Given the description of an element on the screen output the (x, y) to click on. 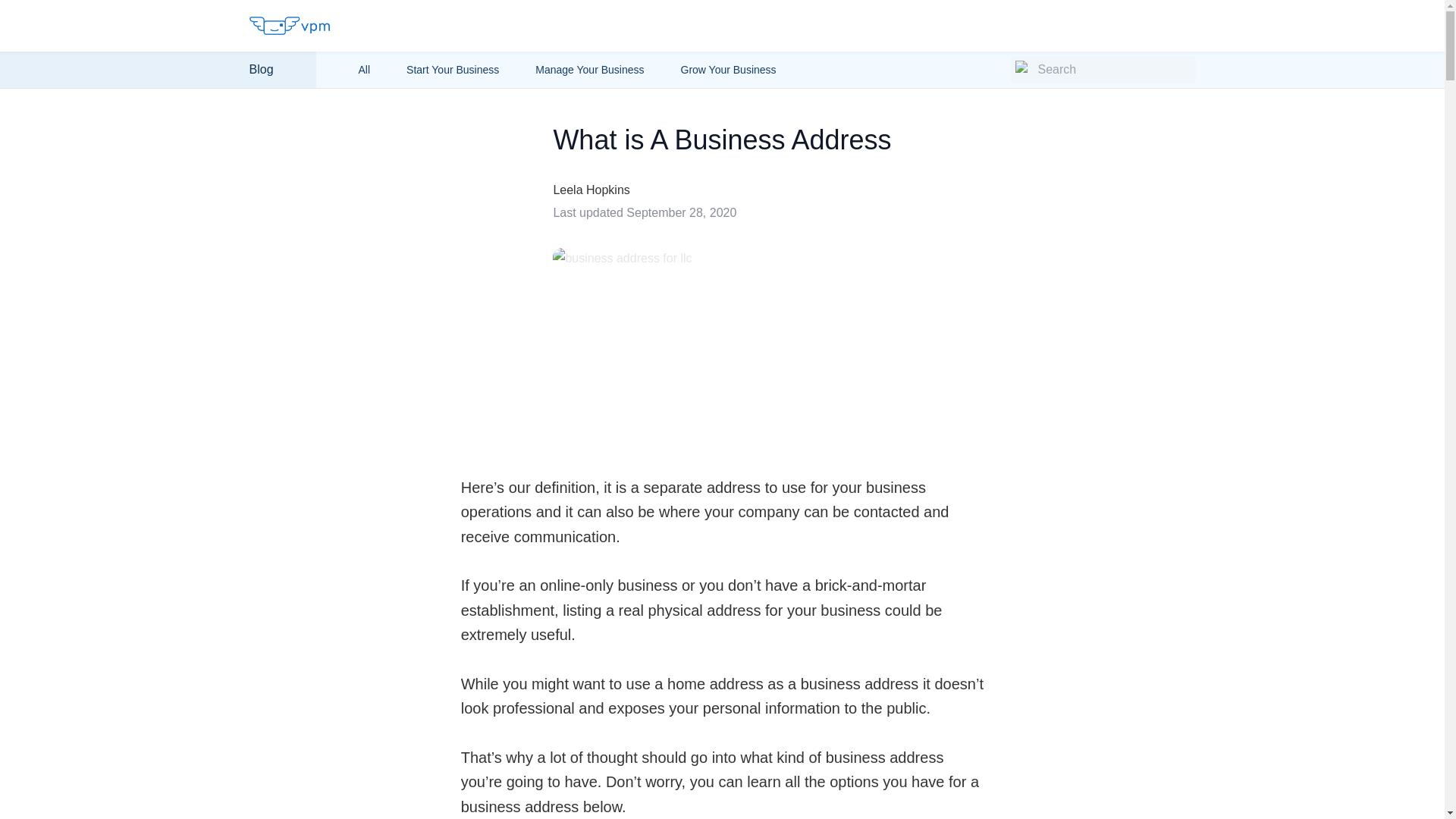
Start Your Business (452, 69)
Grow Your Business (728, 69)
Manage Your Business (589, 69)
